Given the description of an element on the screen output the (x, y) to click on. 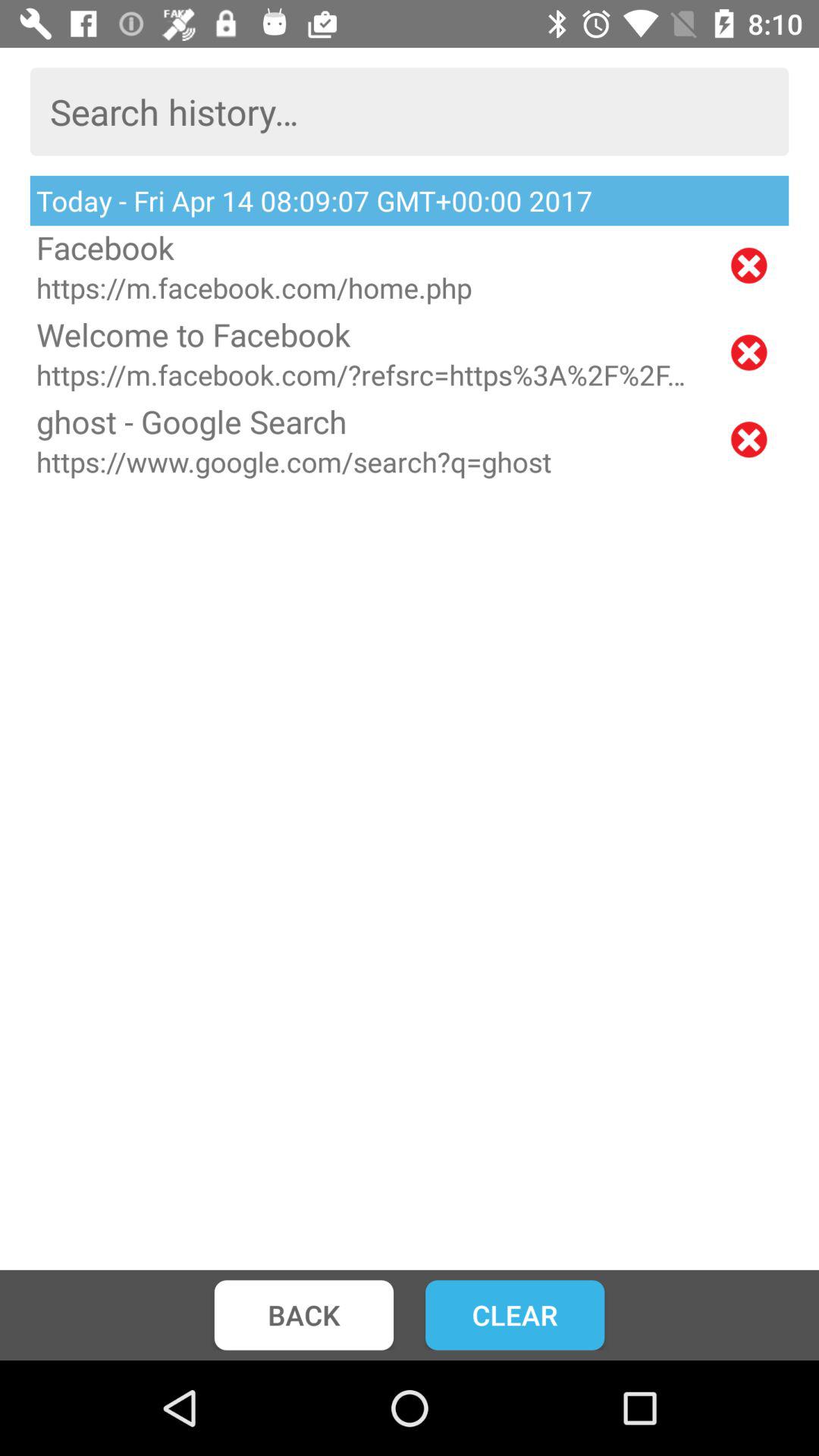
clear specific search history (748, 439)
